Given the description of an element on the screen output the (x, y) to click on. 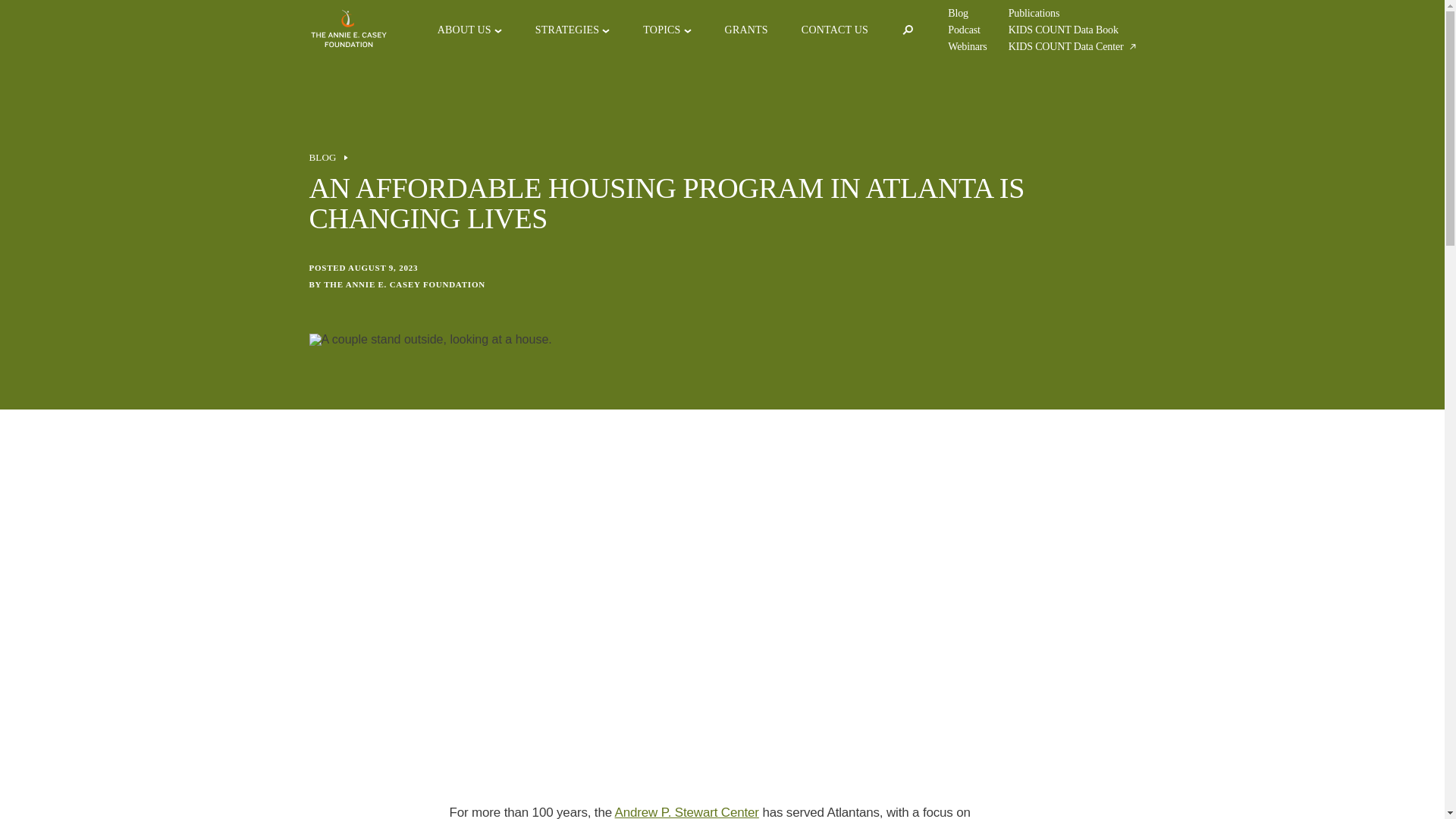
TOPICS (661, 30)
Publications (1034, 13)
Blog (957, 13)
Webinars (967, 46)
CONTACT US (834, 30)
ABOUT US (465, 30)
Andrew P. Stewart Center (686, 812)
Open Search Modal (907, 30)
Podcast (963, 30)
KIDS COUNT Data Book (1063, 30)
GRANTS (746, 30)
STRATEGIES (567, 30)
